Given the description of an element on the screen output the (x, y) to click on. 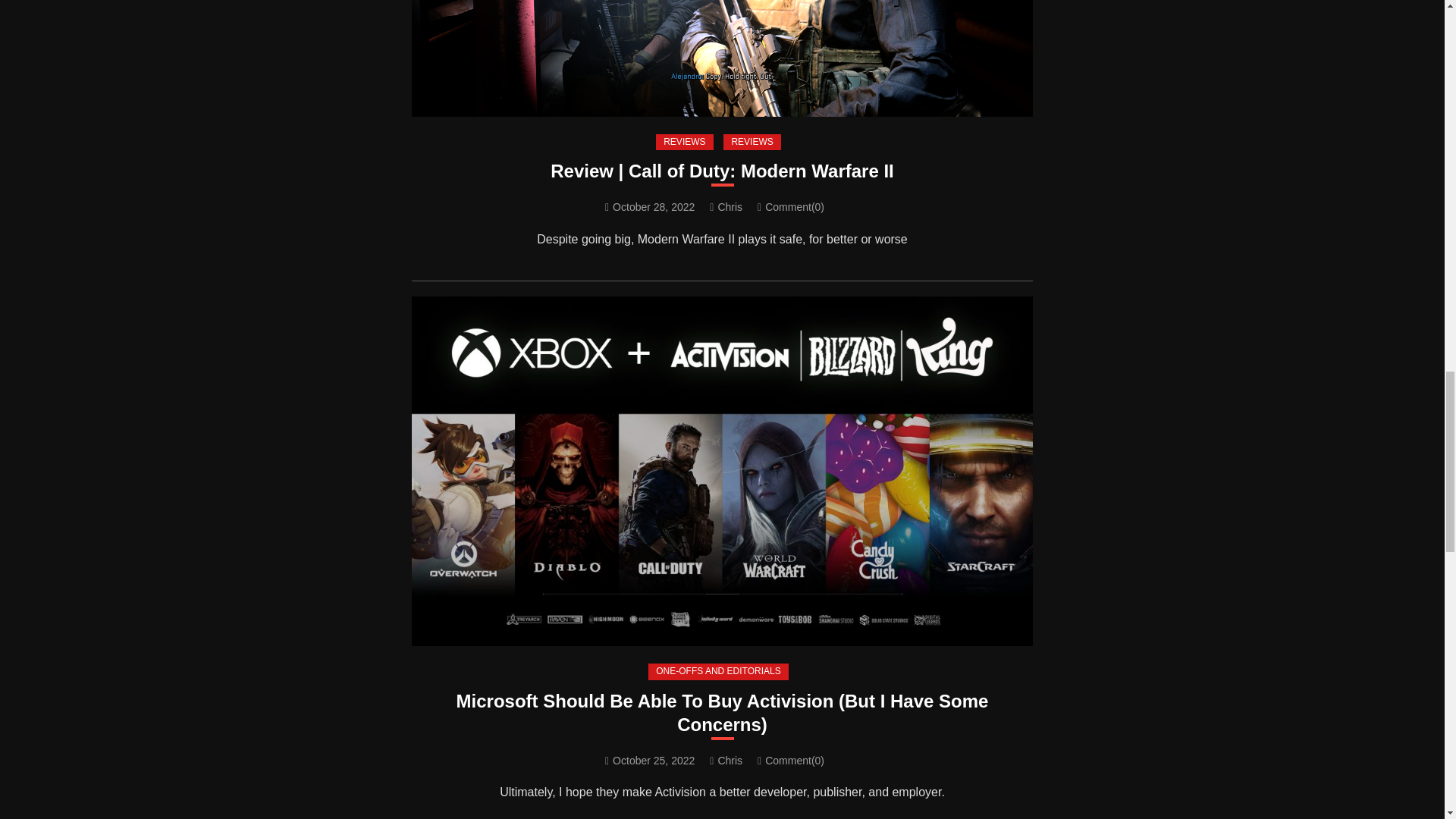
October 25, 2022 (653, 760)
REVIEWS (751, 142)
Chris (729, 206)
October 28, 2022 (653, 206)
REVIEWS (684, 142)
Chris (729, 760)
ONE-OFFS AND EDITORIALS (717, 671)
